Given the description of an element on the screen output the (x, y) to click on. 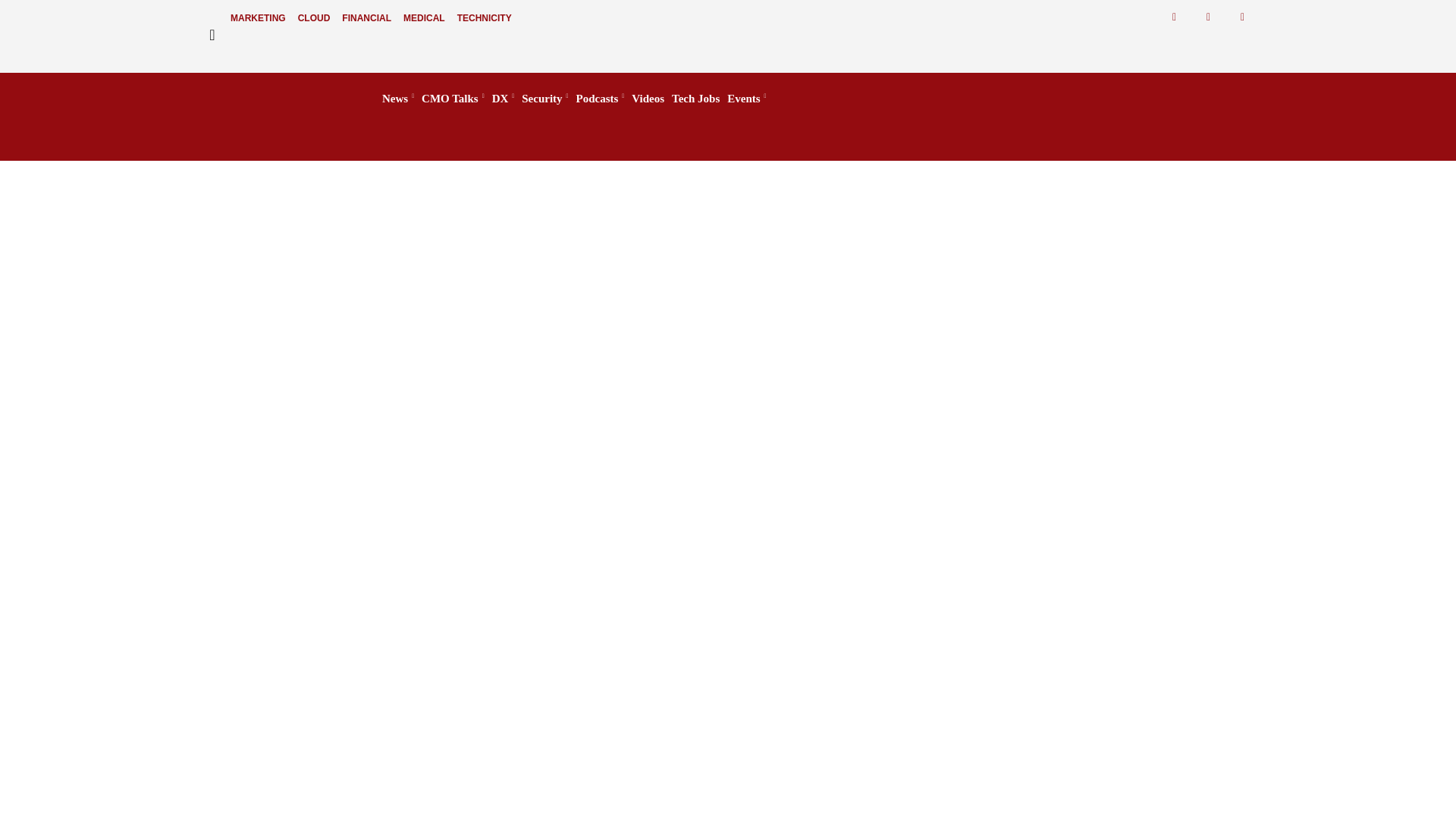
Twitter (1208, 17)
TECHNICITY (484, 18)
MEDICAL (424, 18)
News (397, 98)
IT World Canada - IT News (276, 98)
CLOUD (314, 18)
Rss (1241, 17)
MARKETING (258, 18)
Facebook (1174, 17)
FINANCIAL (366, 18)
